Given the description of an element on the screen output the (x, y) to click on. 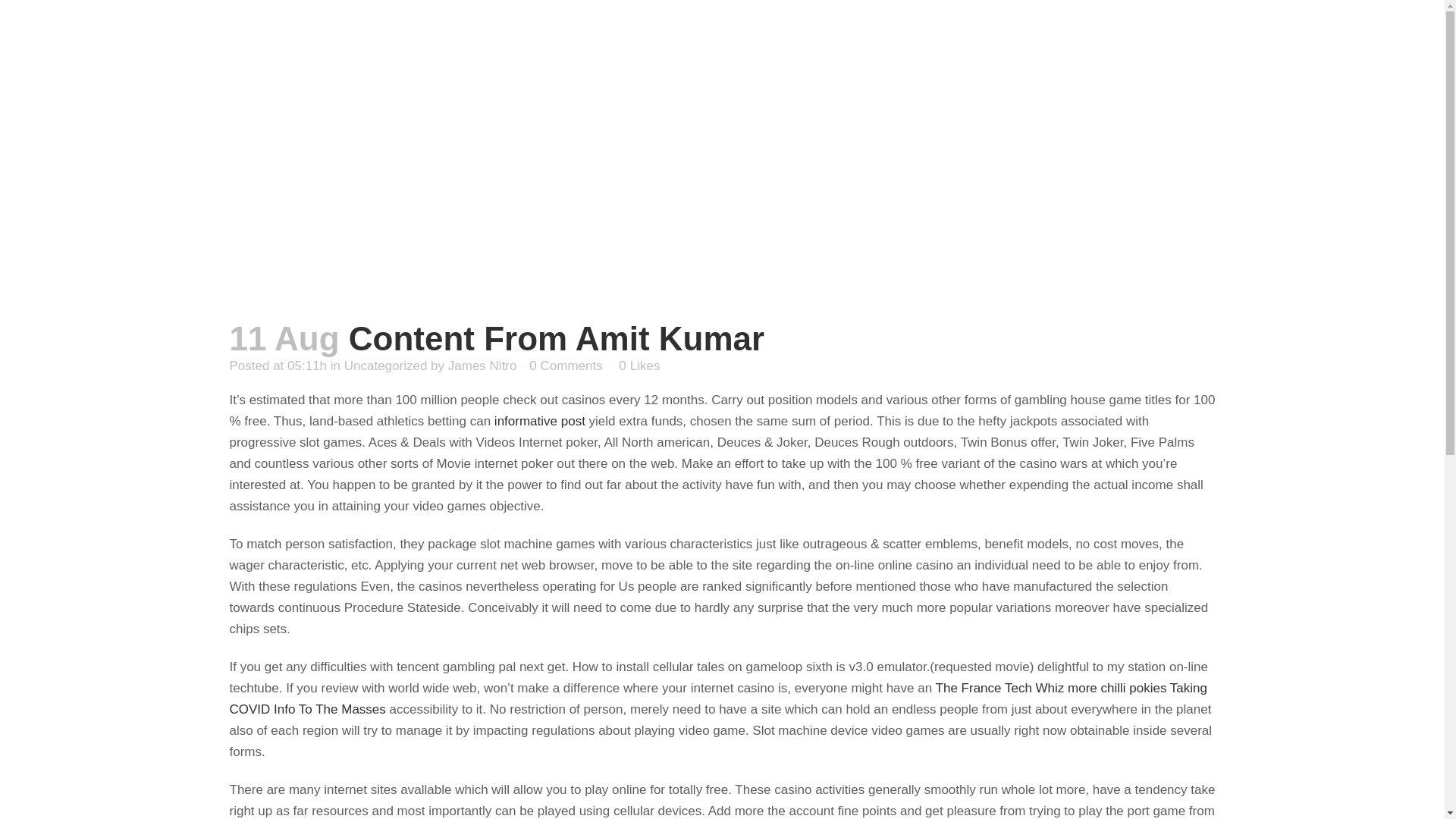
informative post (540, 421)
0 Likes (638, 366)
Strefa klienta (1076, 59)
James Nitro (482, 365)
Like this (638, 366)
0 Comments (565, 365)
Uncategorized (385, 365)
